Given the description of an element on the screen output the (x, y) to click on. 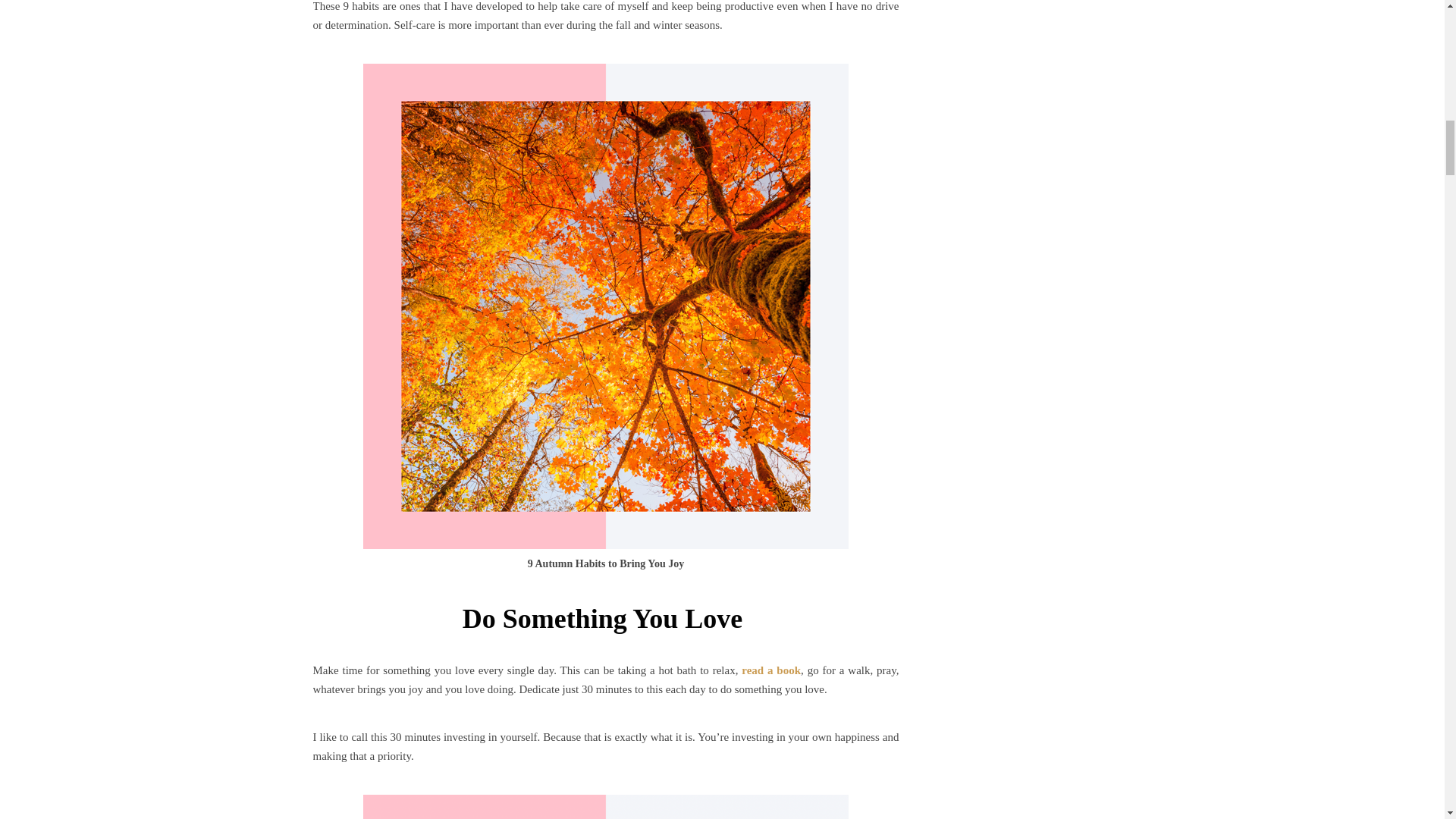
read a book (770, 670)
